Given the description of an element on the screen output the (x, y) to click on. 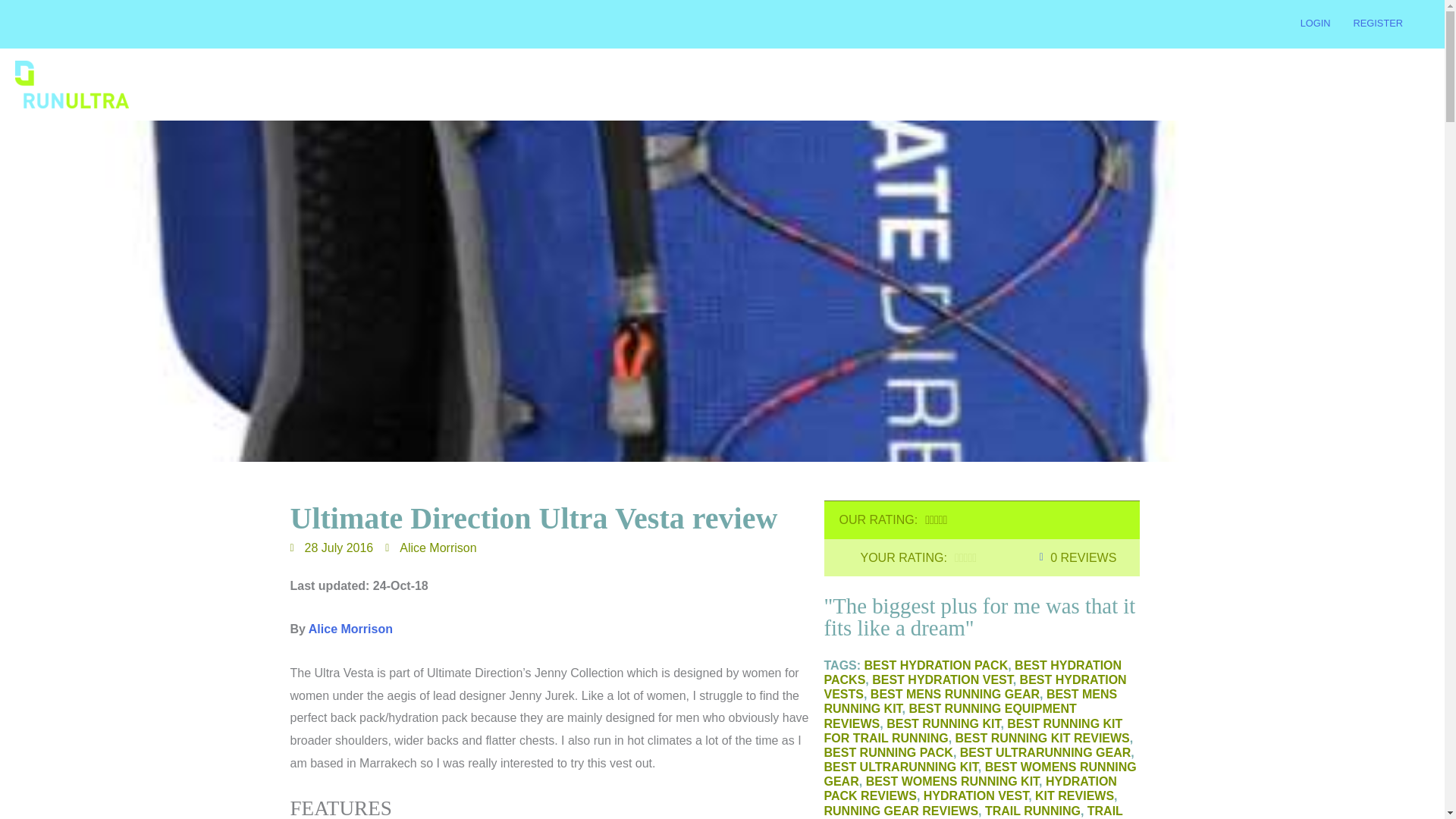
TRAIL RUNNING EQUIPMENT (973, 811)
BEST RUNNING KIT (943, 723)
BEST RUNNING EQUIPMENT REVIEWS (949, 715)
LOGIN (1315, 23)
TRAINING (1062, 84)
HYDRATION PACK REVIEWS (970, 788)
HYDRATION VEST (975, 795)
BEST ULTRARUNNING GEAR (1045, 752)
RUNNING GEAR REVIEWS (901, 810)
Alice Morrison (350, 628)
BEST HYDRATION PACK (936, 665)
BEST HYDRATION VEST (942, 679)
BEST RUNNING PACK (888, 752)
REGISTER (1377, 23)
BEST RUNNING KIT REVIEWS (1042, 738)
